Given the description of an element on the screen output the (x, y) to click on. 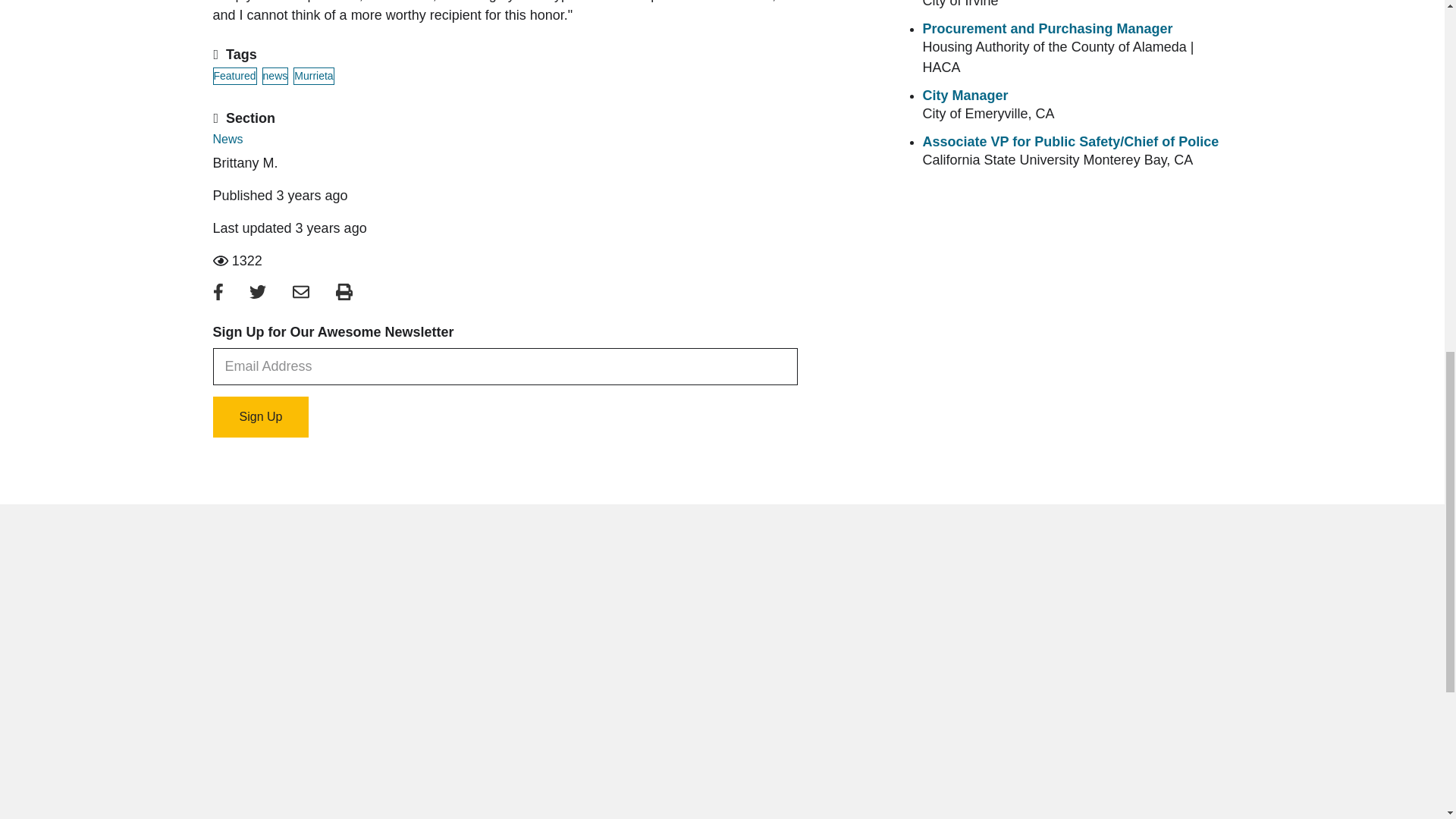
Total views (504, 260)
news (275, 76)
Sign Up (260, 416)
Murrieta (313, 76)
Featured (234, 76)
News (227, 139)
